Given the description of an element on the screen output the (x, y) to click on. 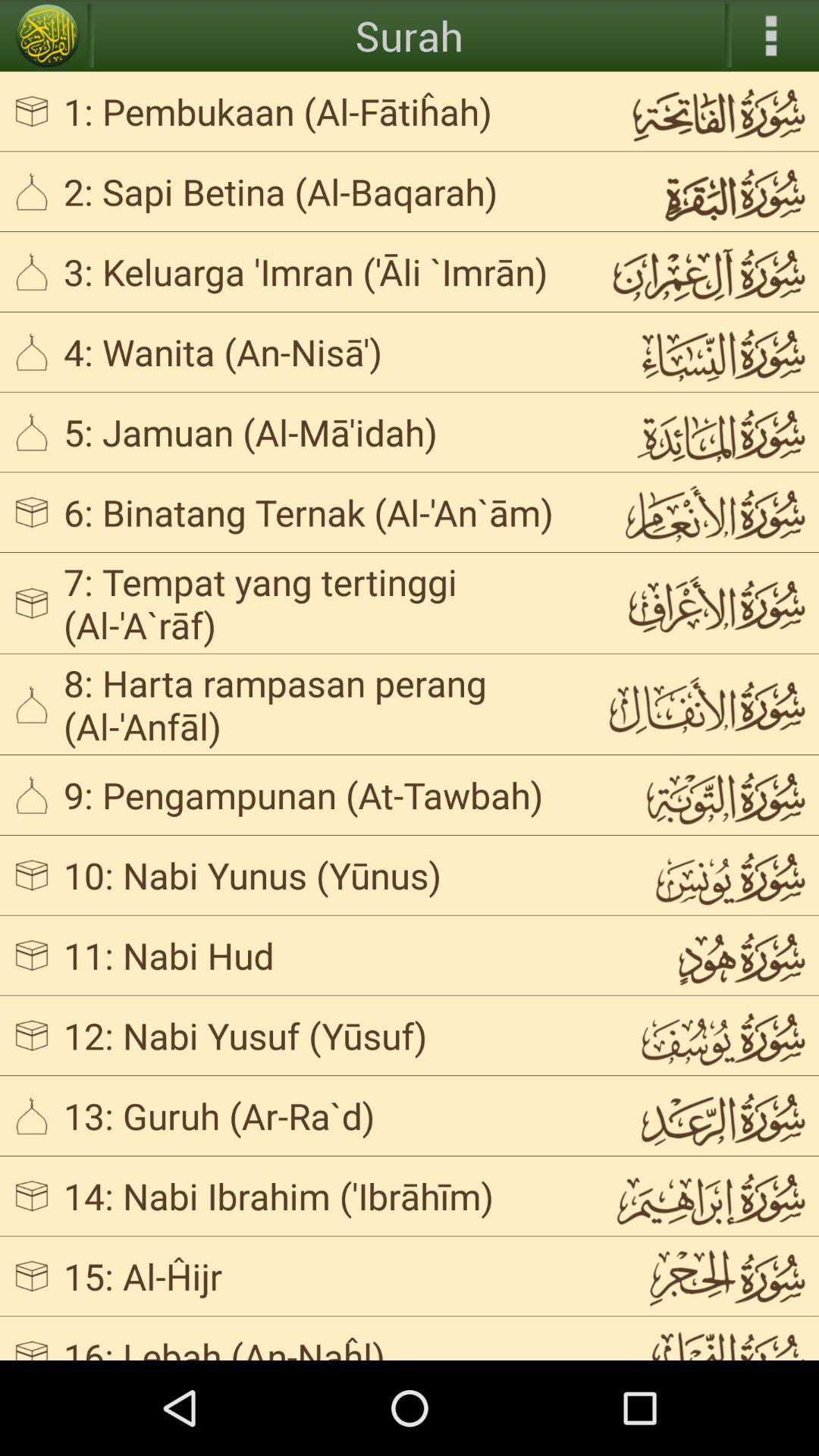
click app below 8 harta rampasan icon (322, 794)
